Given the description of an element on the screen output the (x, y) to click on. 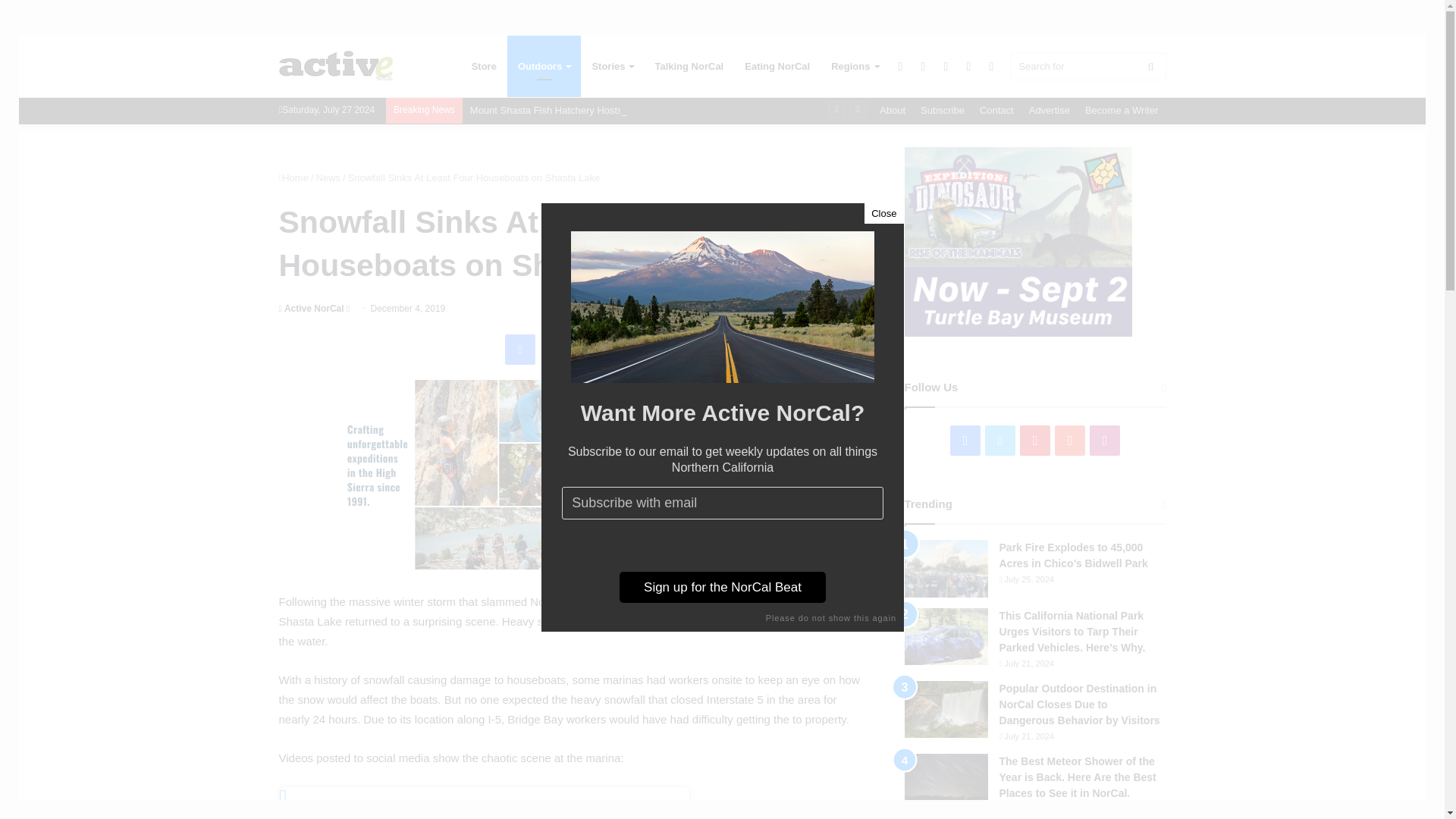
SYMG 600X250 (574, 474)
Contact (997, 110)
Mount Shasta Fish Hatchery Hosts Kids Fishing Day on July 20 (608, 110)
Eating NorCal (777, 66)
Talking NorCal (688, 66)
Pinterest (591, 349)
Reddit (627, 349)
Search for (1088, 66)
Facebook (520, 349)
Stories (611, 66)
Twitter (556, 349)
Subscribe (942, 110)
Active NorCal (336, 65)
Regions (854, 66)
Become a Writer (1121, 110)
